Given the description of an element on the screen output the (x, y) to click on. 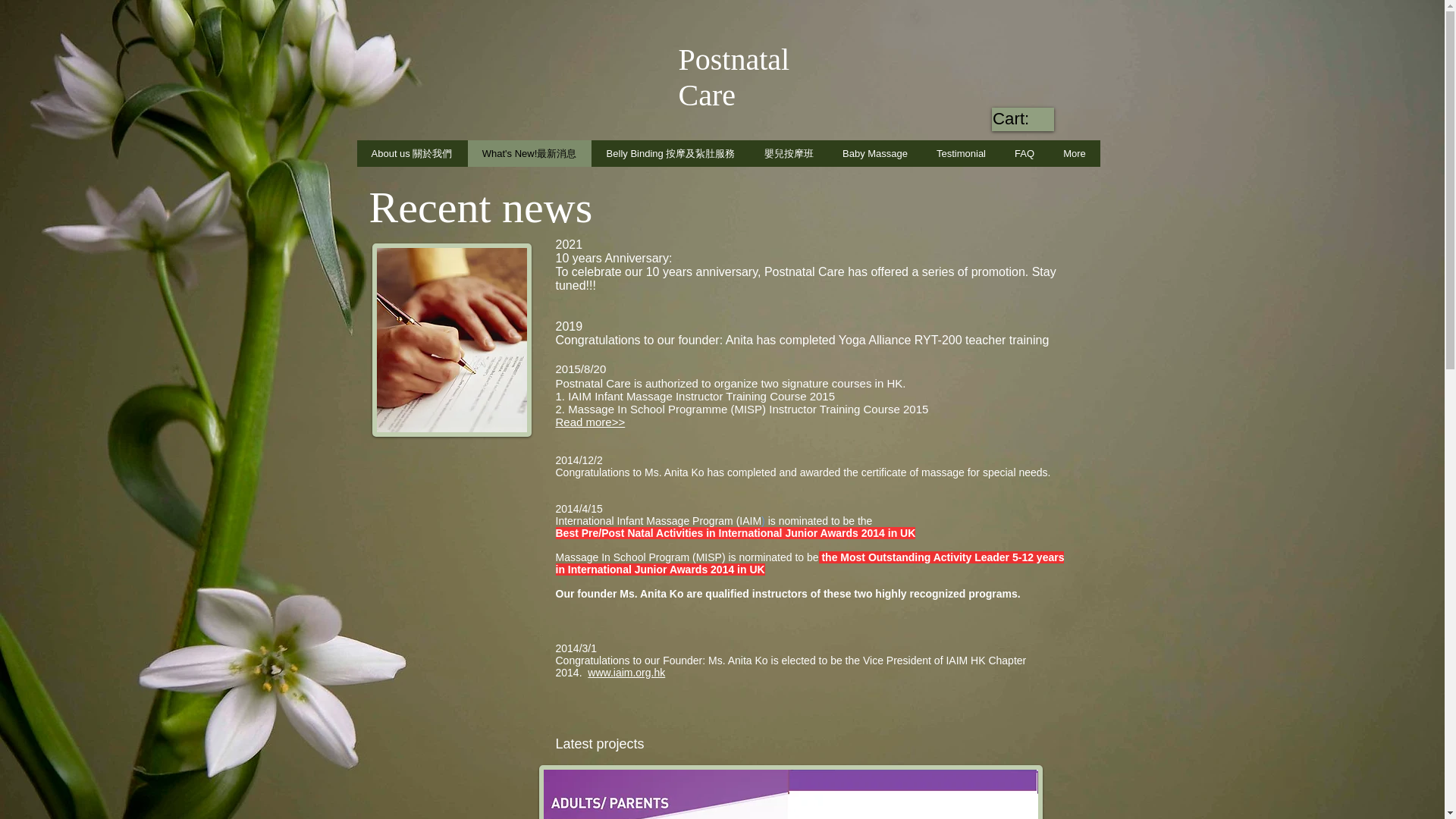
FAQ (1023, 153)
www.iaim.org.hk (626, 672)
Cart: (1021, 117)
Testimonial (960, 153)
Cart: (1021, 117)
Baby Massage (874, 153)
